Given the description of an element on the screen output the (x, y) to click on. 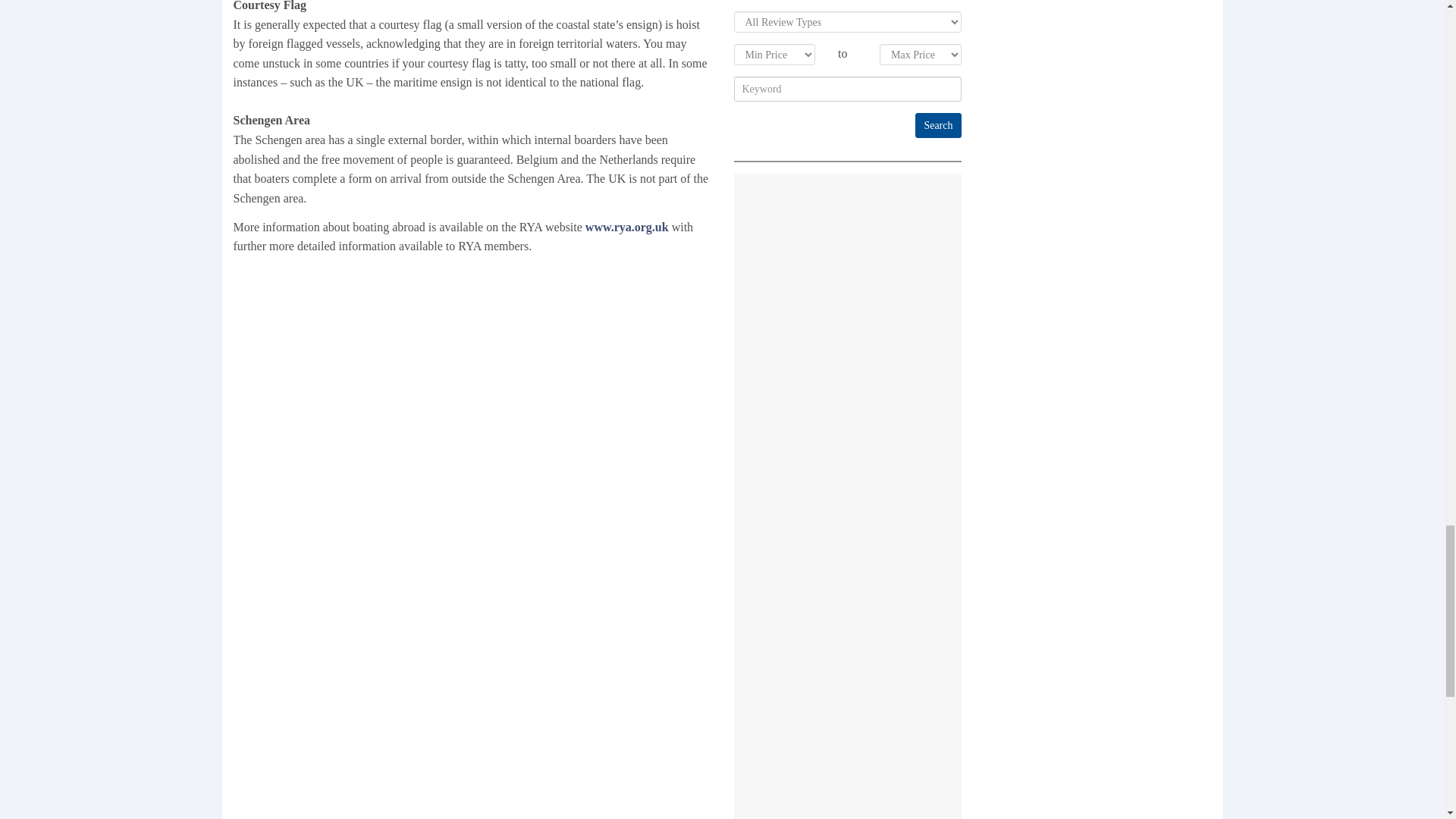
Search (937, 125)
